Given the description of an element on the screen output the (x, y) to click on. 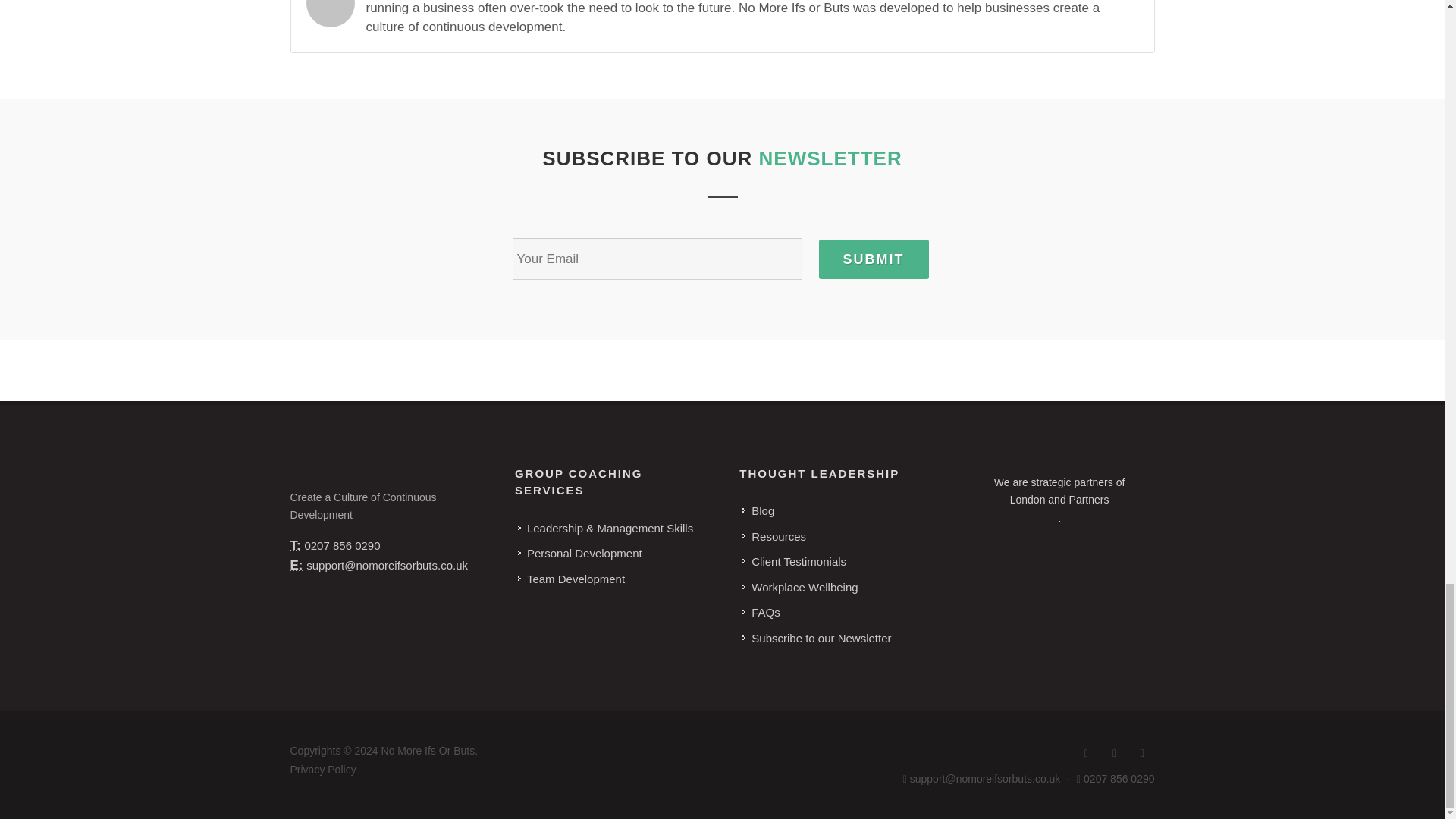
Email Address (295, 564)
